Given the description of an element on the screen output the (x, y) to click on. 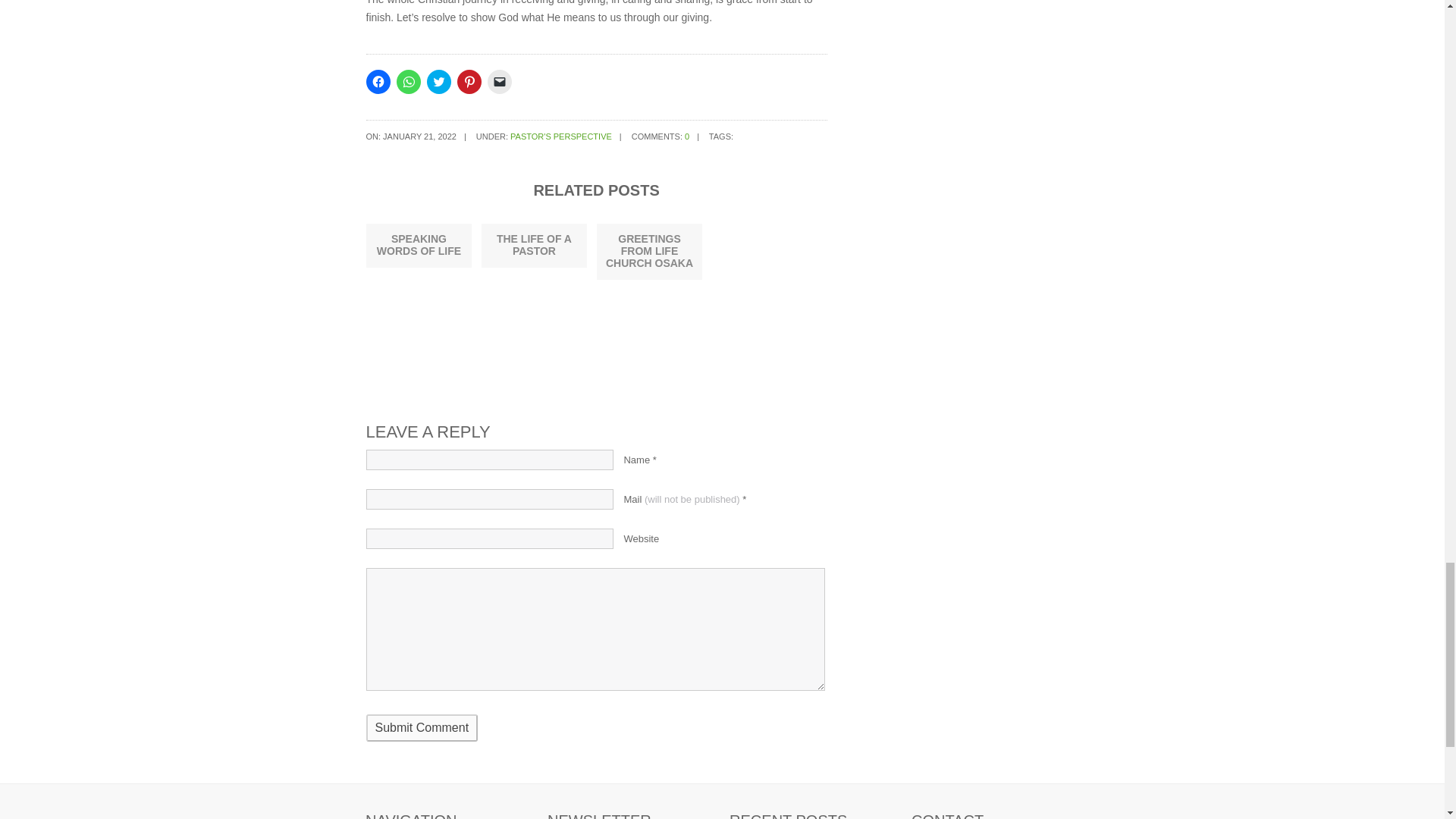
Submit Comment (421, 728)
PASTOR'S PERSPECTIVE (561, 135)
Click to share on WhatsApp (408, 81)
THE LIFE OF A PASTOR (534, 244)
Click to share on Twitter (437, 81)
Click to share on Pinterest (468, 81)
Submit Comment (421, 728)
GREETINGS FROM LIFE CHURCH OSAKA (649, 250)
Click to email a link to a friend (498, 81)
0 (686, 135)
Click to share on Facebook (377, 81)
SPEAKING WORDS OF LIFE (419, 244)
